Given the description of an element on the screen output the (x, y) to click on. 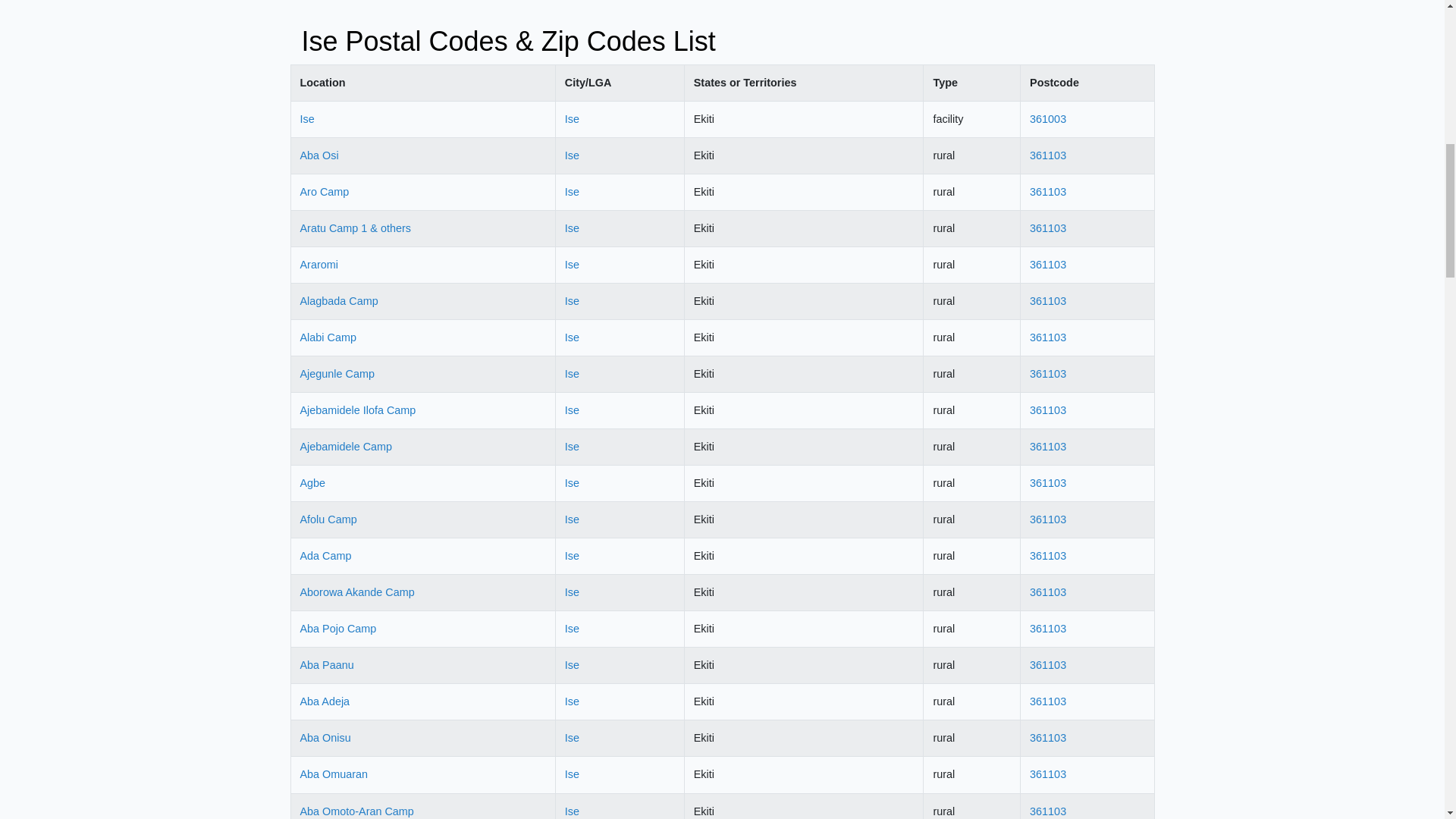
361103 (1047, 155)
Araromi (318, 264)
Ise (571, 264)
Ise (571, 119)
Ise (571, 373)
361103 (1047, 337)
Ise (571, 482)
361103 (1047, 191)
Ise (306, 119)
Advertisement (721, 12)
361103 (1047, 519)
Ise (571, 155)
Ise (571, 227)
361003 (1047, 119)
361103 (1047, 410)
